Given the description of an element on the screen output the (x, y) to click on. 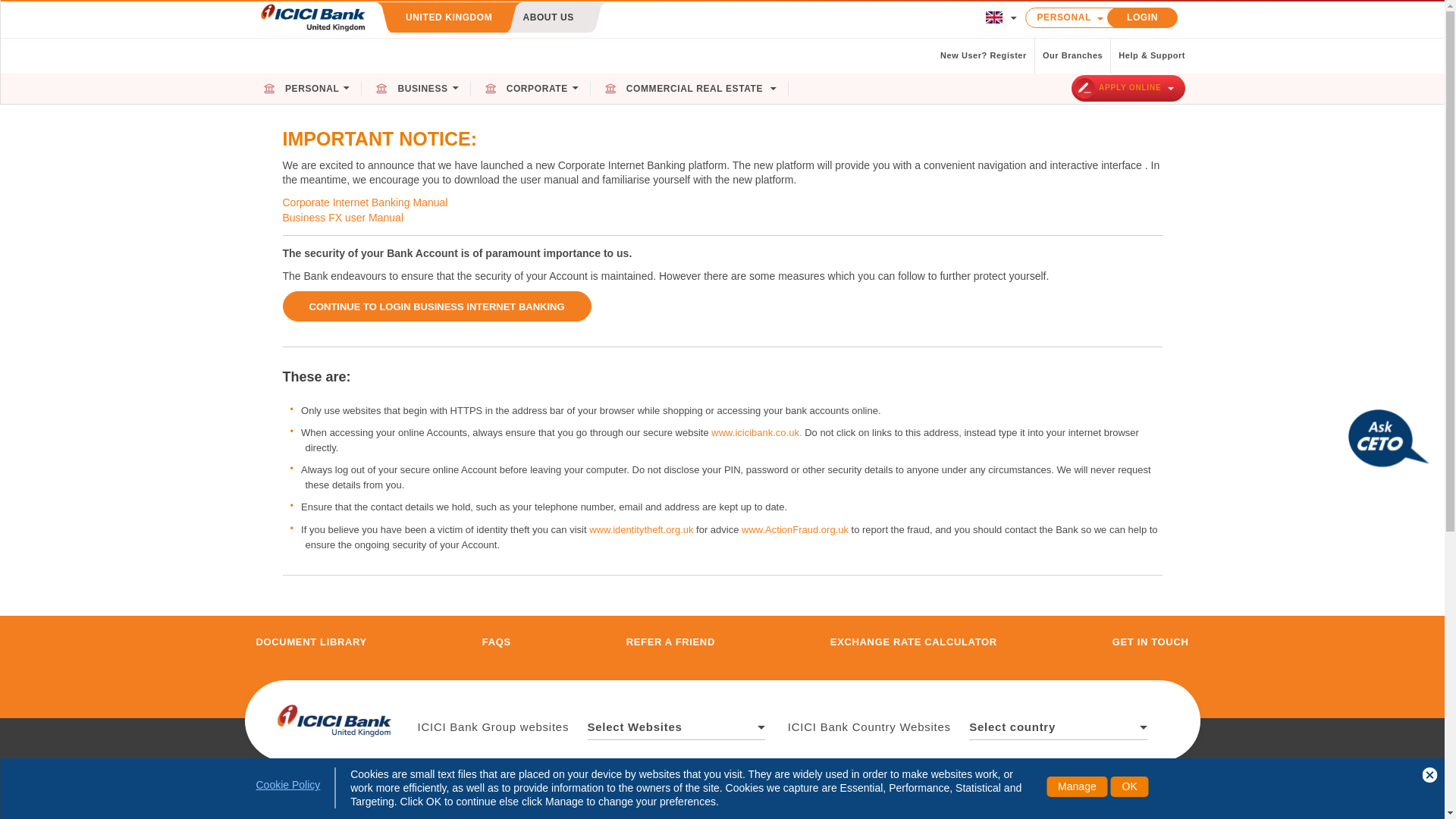
Our Branches (1072, 55)
New User? Register (984, 55)
PERSONAL (1073, 17)
LOGIN (1141, 17)
PERSONAL (312, 88)
UNITED KINGDOM (448, 17)
ABOUT US (547, 17)
